Given the description of an element on the screen output the (x, y) to click on. 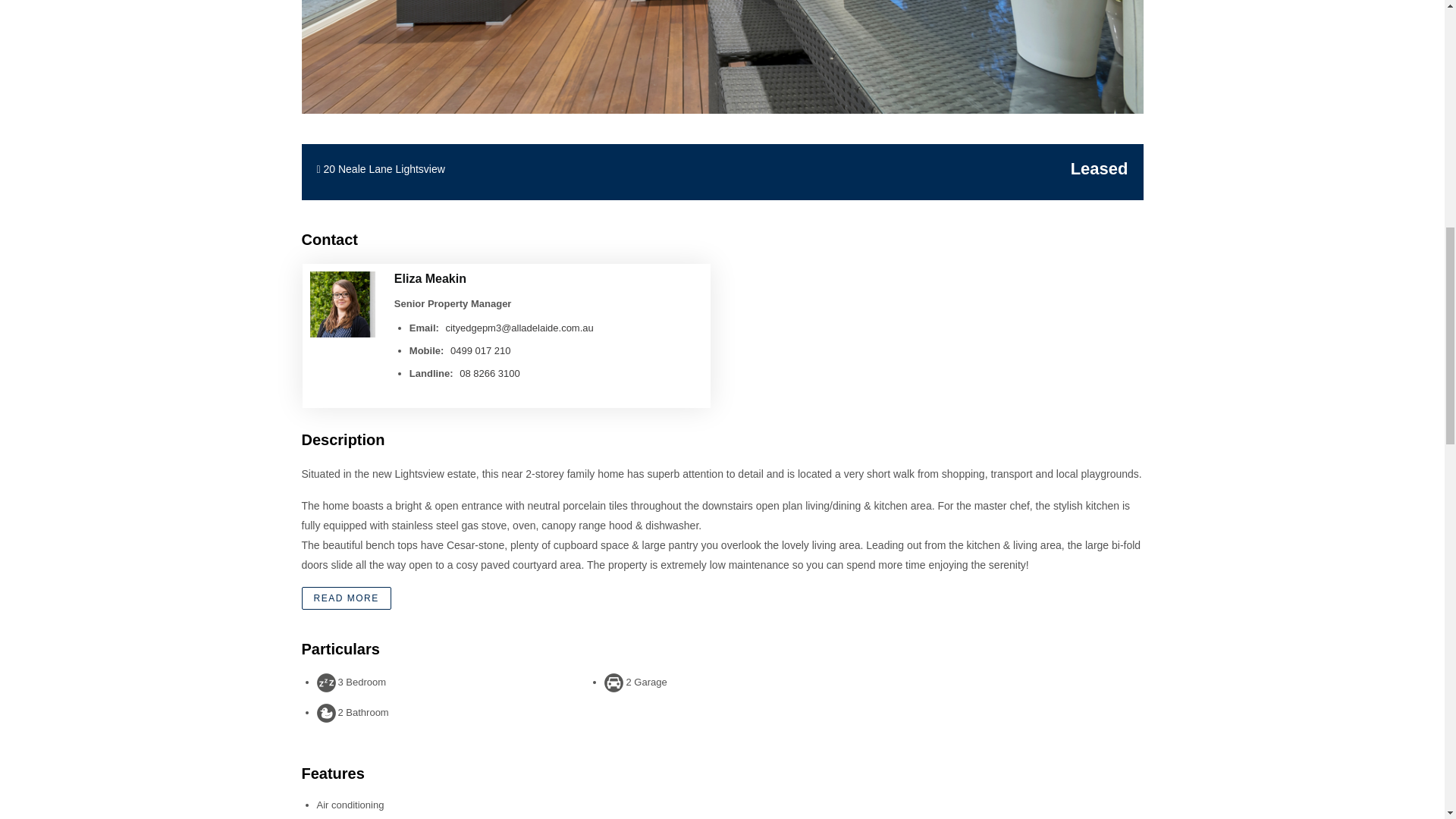
Eliza Meakin (429, 278)
